Given the description of an element on the screen output the (x, y) to click on. 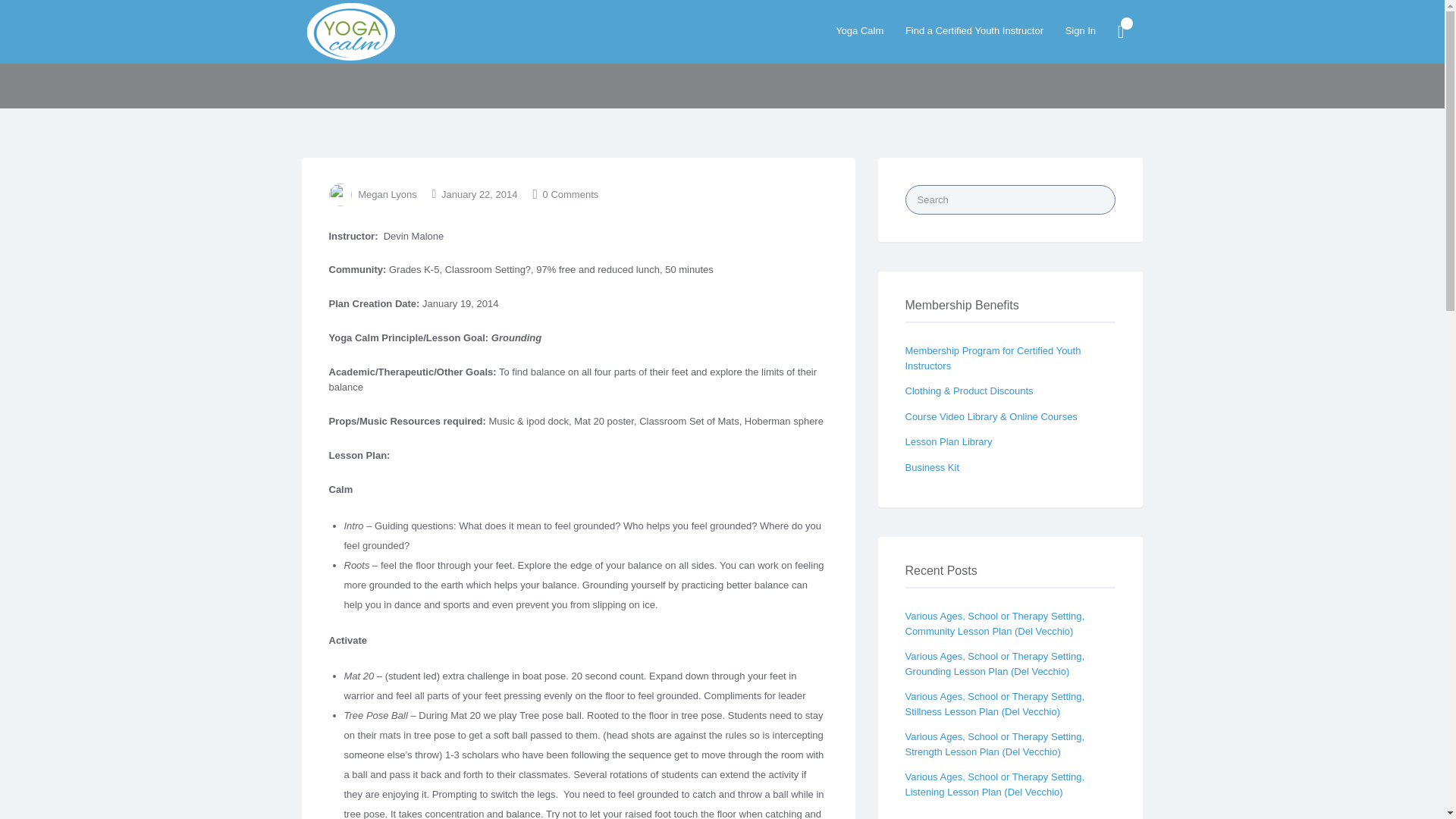
Megan Lyons (387, 194)
0 Comments (570, 194)
Find a Certified Youth Instructor (974, 30)
Yoga Calm (859, 30)
Search for: (1010, 199)
Business Kit (932, 466)
Lesson Plan Library (948, 441)
Posts by Megan Lyons (387, 194)
Membership Program for Certified Youth Instructors (993, 357)
